Given the description of an element on the screen output the (x, y) to click on. 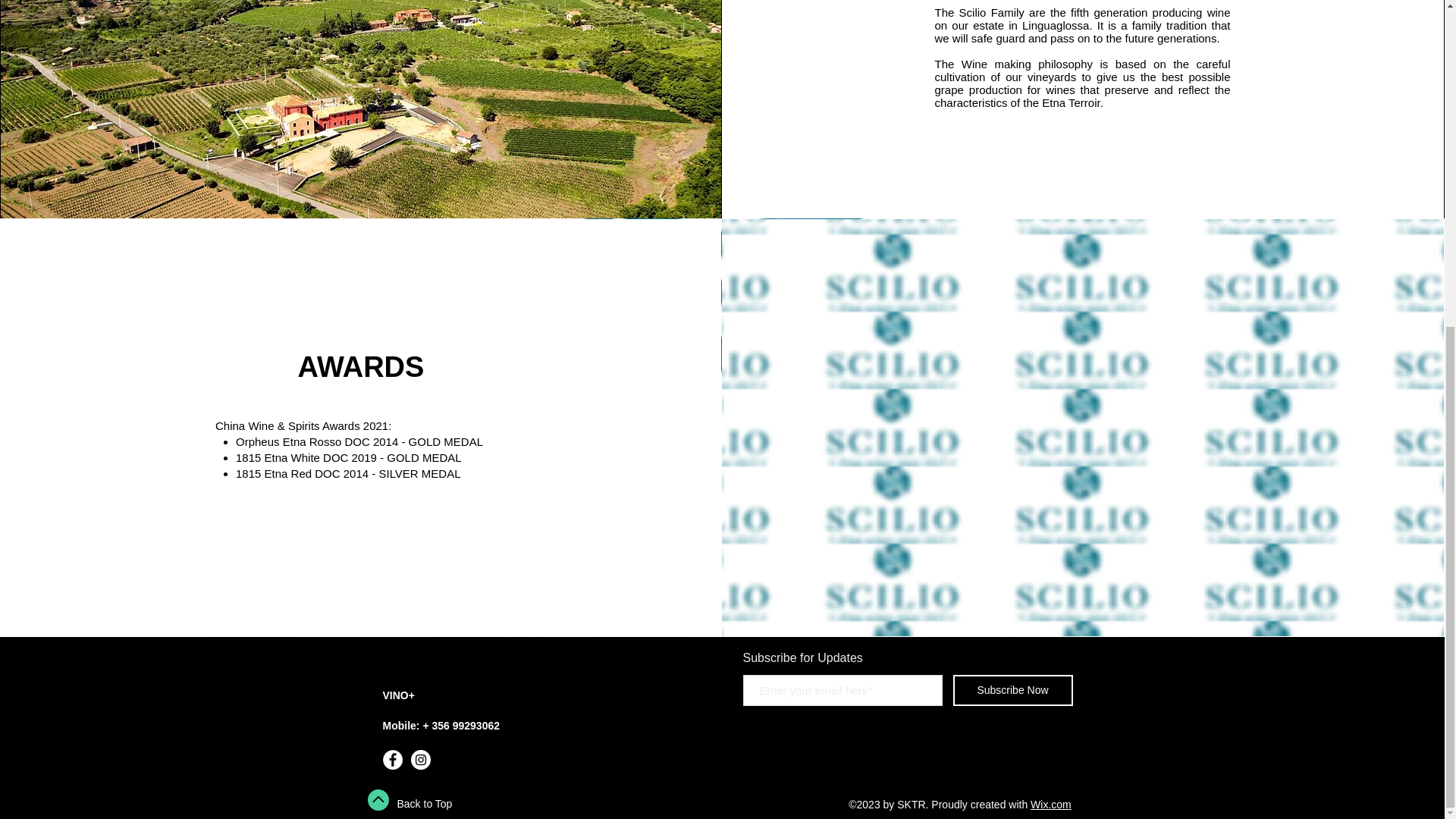
Wix.com (1050, 804)
Back to Top (424, 803)
Subscribe Now (1011, 689)
